Given the description of an element on the screen output the (x, y) to click on. 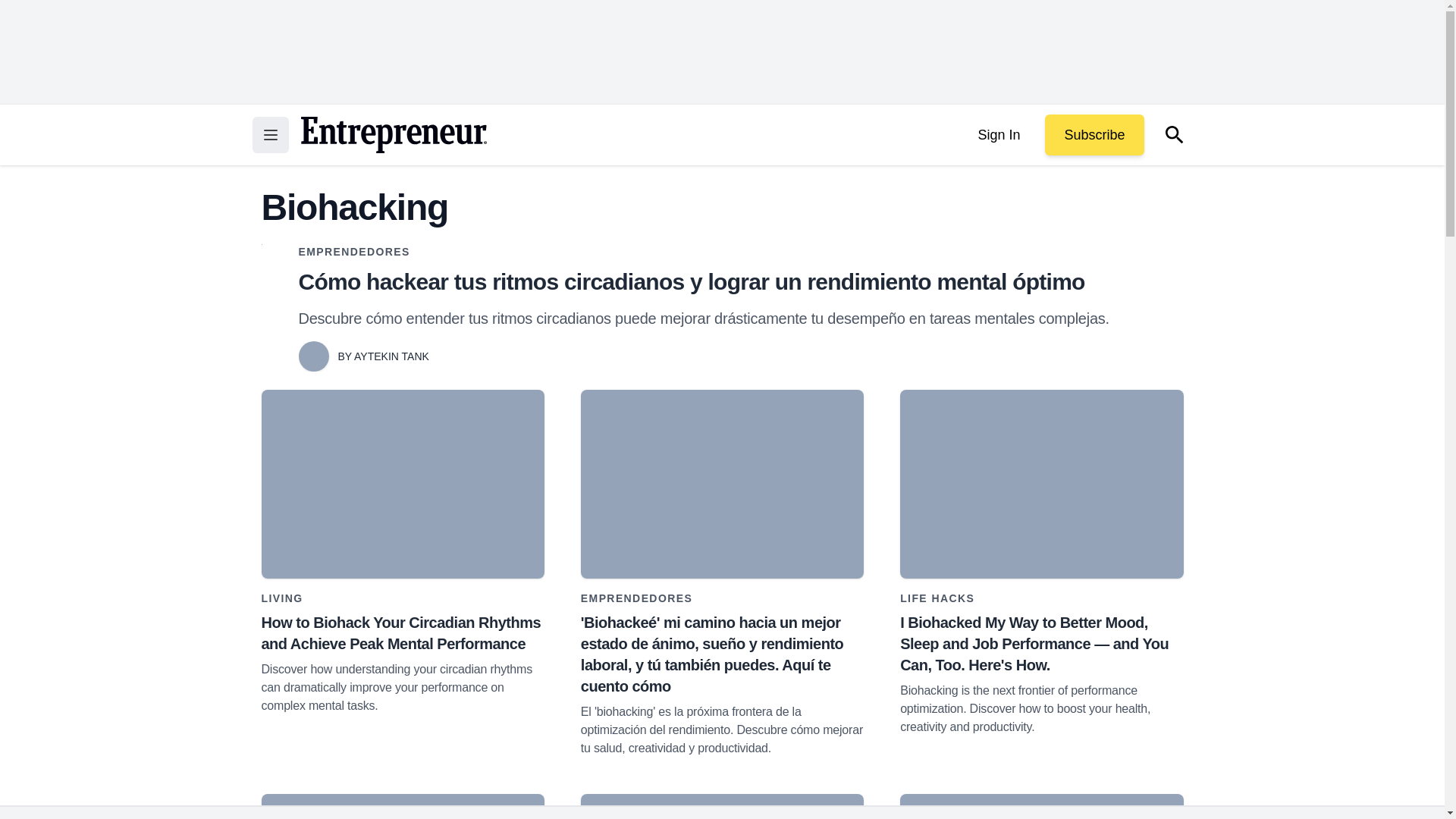
Sign In (998, 134)
Subscribe (1093, 134)
Return to the home page (392, 135)
